Given the description of an element on the screen output the (x, y) to click on. 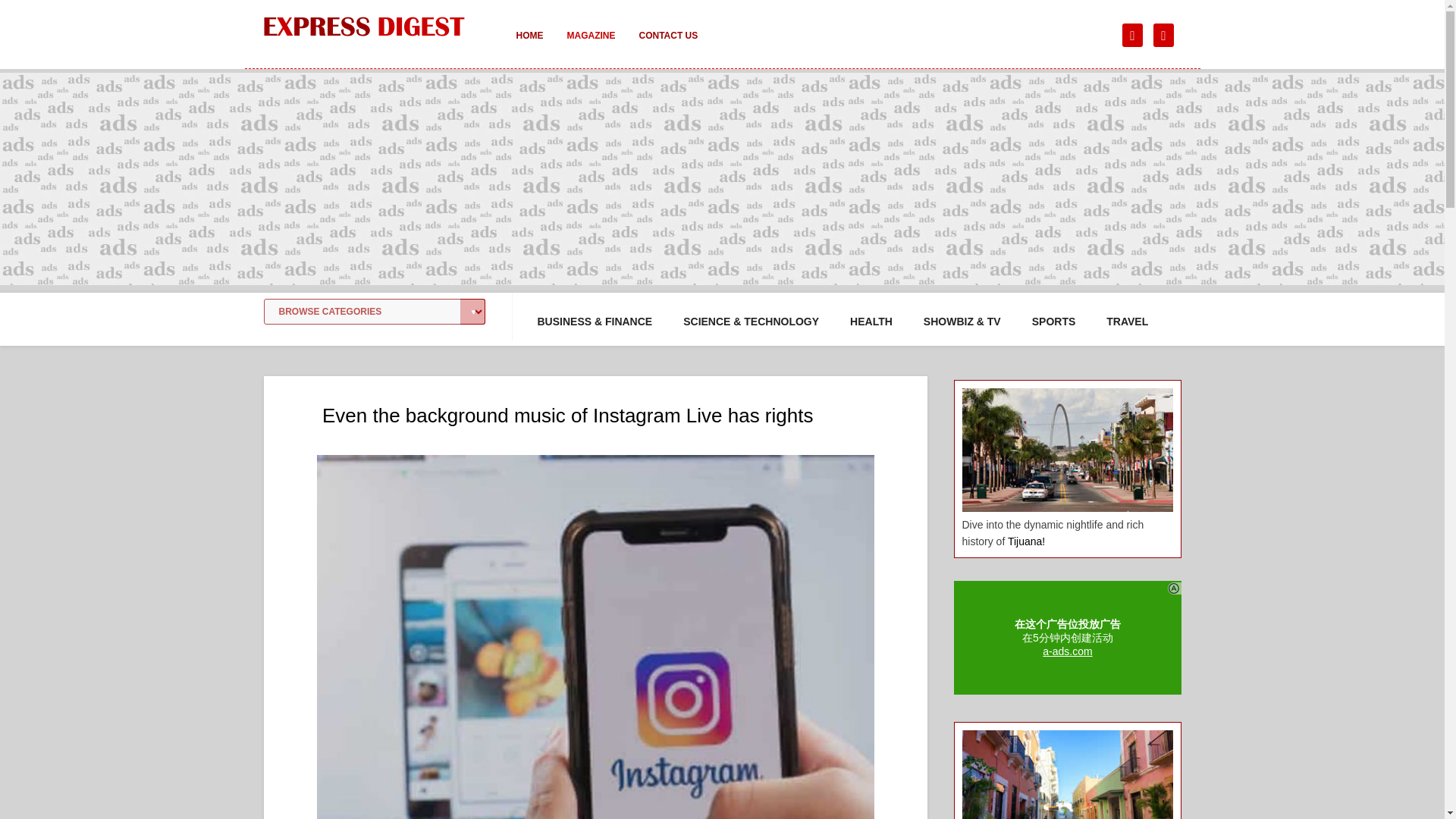
MAGAZINE (590, 45)
Tijuana! (1026, 541)
HEALTH (871, 321)
CONTACT US (667, 45)
TRAVEL (1127, 321)
SPORTS (1053, 321)
